Given the description of an element on the screen output the (x, y) to click on. 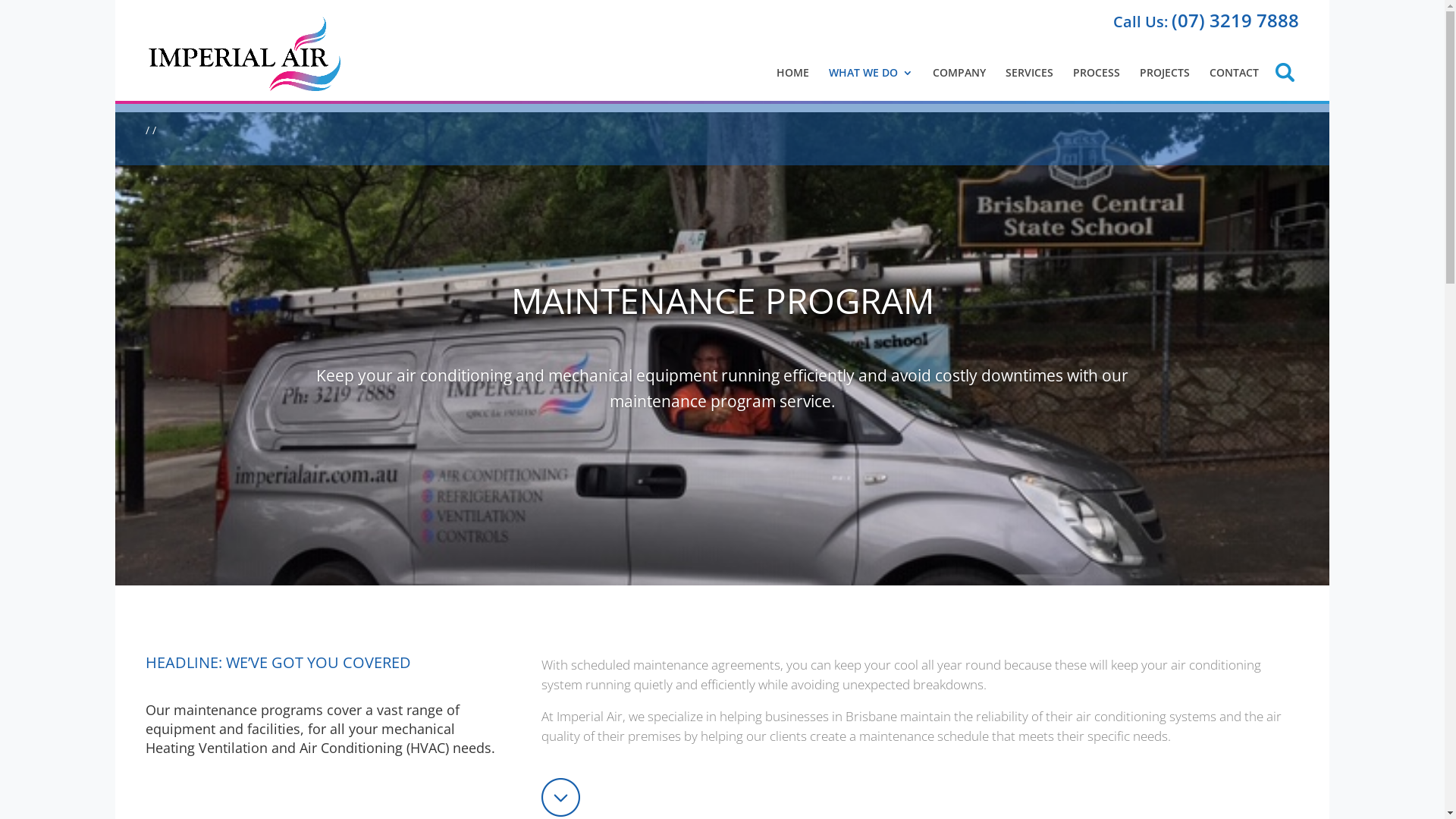
HOME Element type: text (792, 72)
(07) 3219 7888 Element type: text (1235, 19)
COMPANY Element type: text (958, 72)
SERVICES Element type: text (1029, 72)
WHAT WE DO Element type: text (870, 72)
PROJECTS Element type: text (1164, 72)
CONTACT Element type: text (1233, 72)
PROCESS Element type: text (1096, 72)
